Given the description of an element on the screen output the (x, y) to click on. 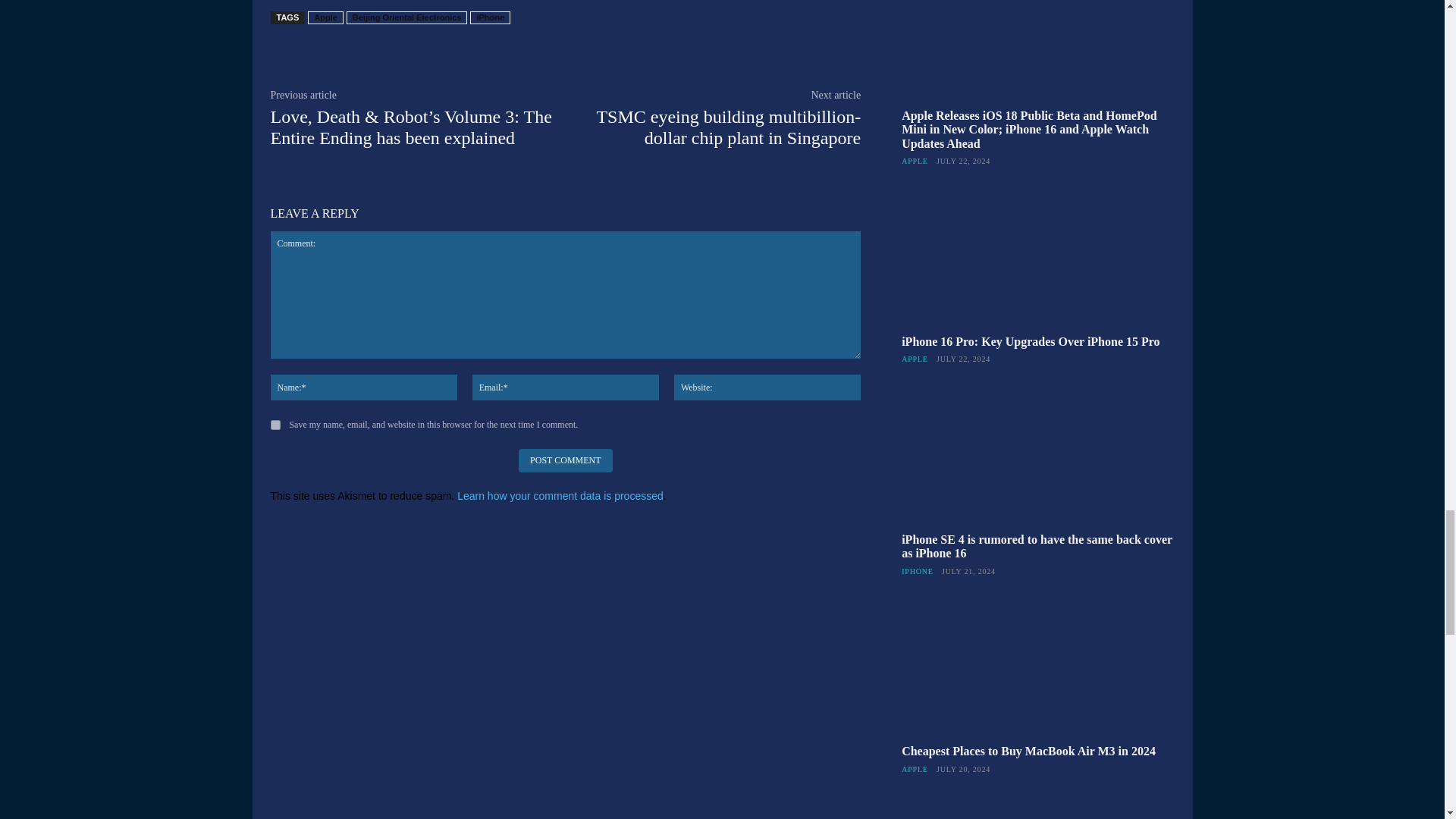
yes (274, 424)
Post Comment (564, 460)
